Given the description of an element on the screen output the (x, y) to click on. 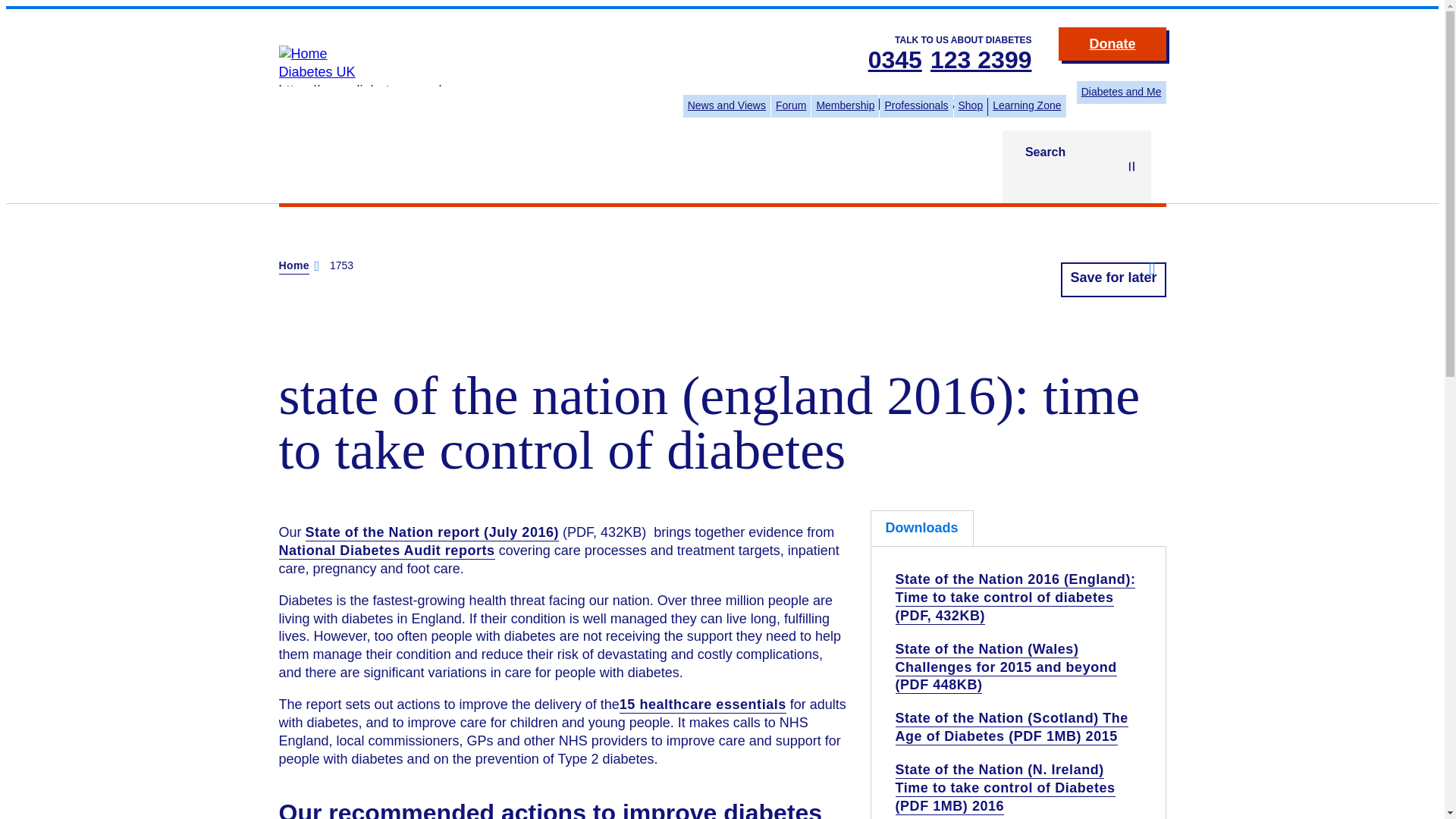
National Diabetes Audit reports (387, 550)
Home (303, 53)
Forum (790, 106)
Diabetes UK (317, 71)
15 healthcare essentials (703, 704)
Diabetes and Me (1121, 92)
Membership (844, 106)
Home (317, 71)
0345123 2399 (949, 60)
Home (294, 266)
Search (1077, 166)
Learning Zone (1026, 106)
Professionals (915, 106)
Shop (970, 106)
News and Views (726, 106)
